Given the description of an element on the screen output the (x, y) to click on. 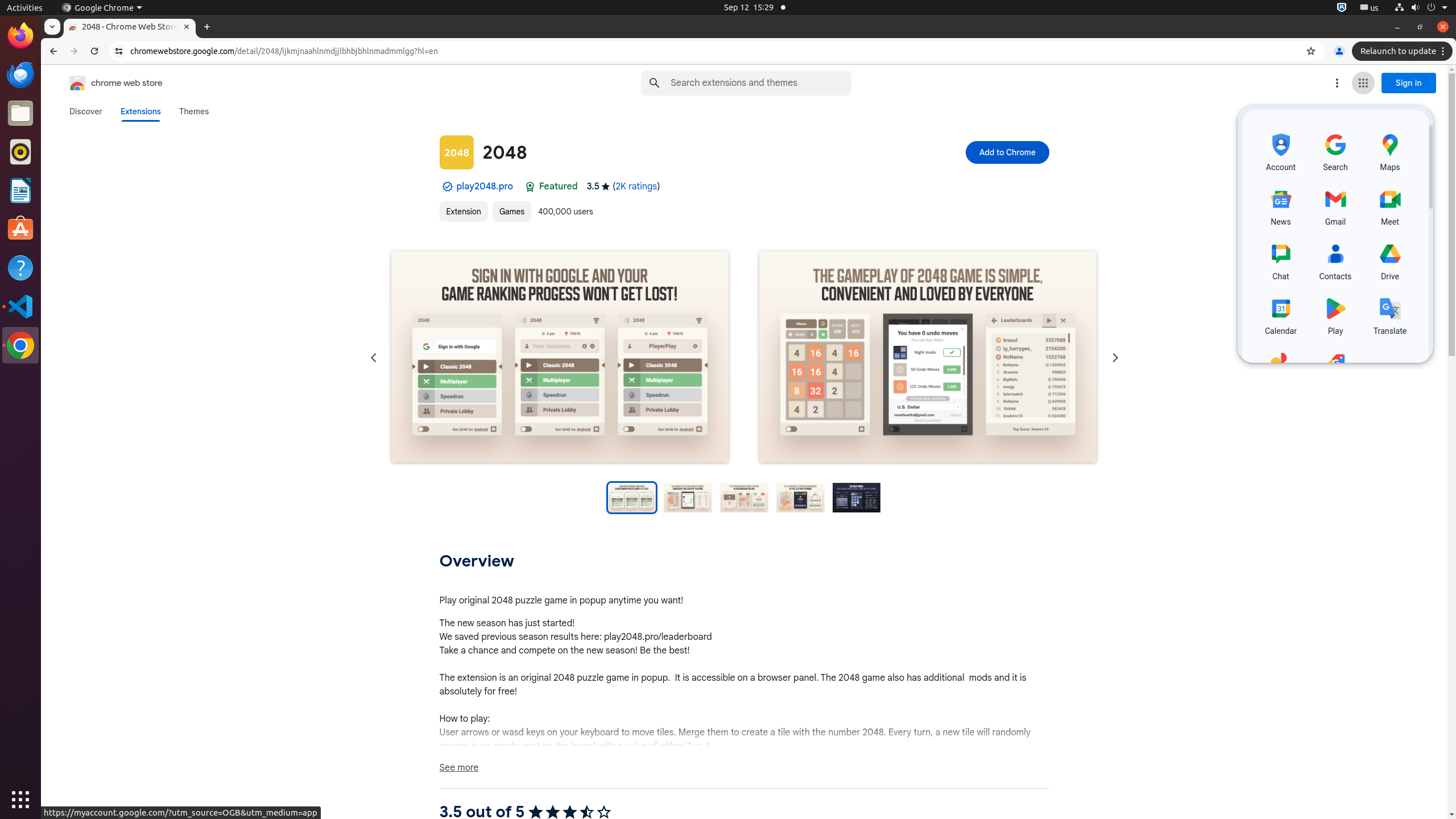
New Tab Element type: push-button (206, 26)
play2048.pro Element type: link (484, 186)
Contacts, row 3 of 5 and column 2 of 3 in the first section (opens a new tab) Element type: link (1335, 259)
Sign in Element type: link (1408, 82)
See more Element type: push-button (744, 767)
